Given the description of an element on the screen output the (x, y) to click on. 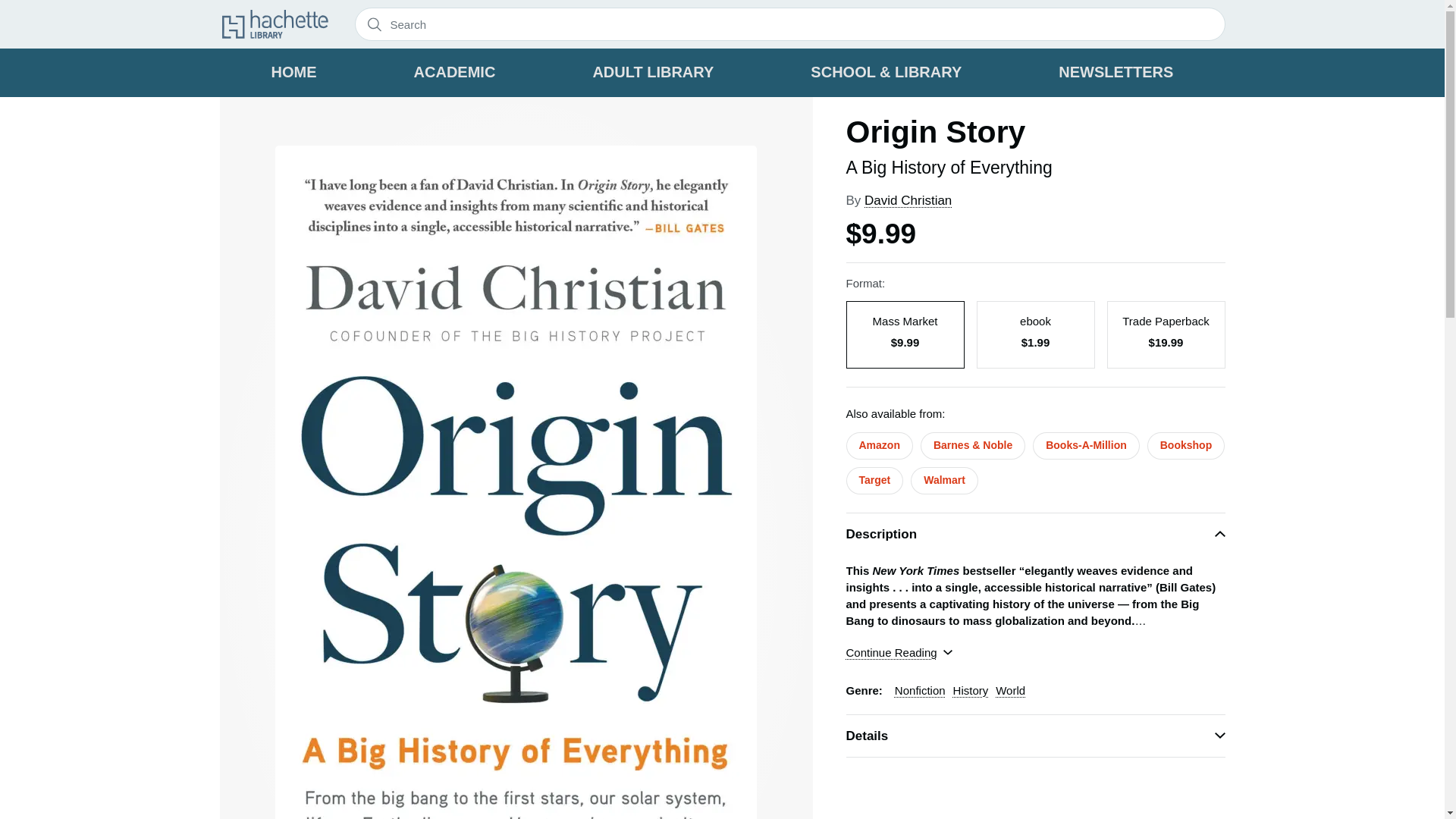
ACADEMIC (454, 72)
Go to Hachette Book Group home (274, 23)
HOME (293, 72)
